Given the description of an element on the screen output the (x, y) to click on. 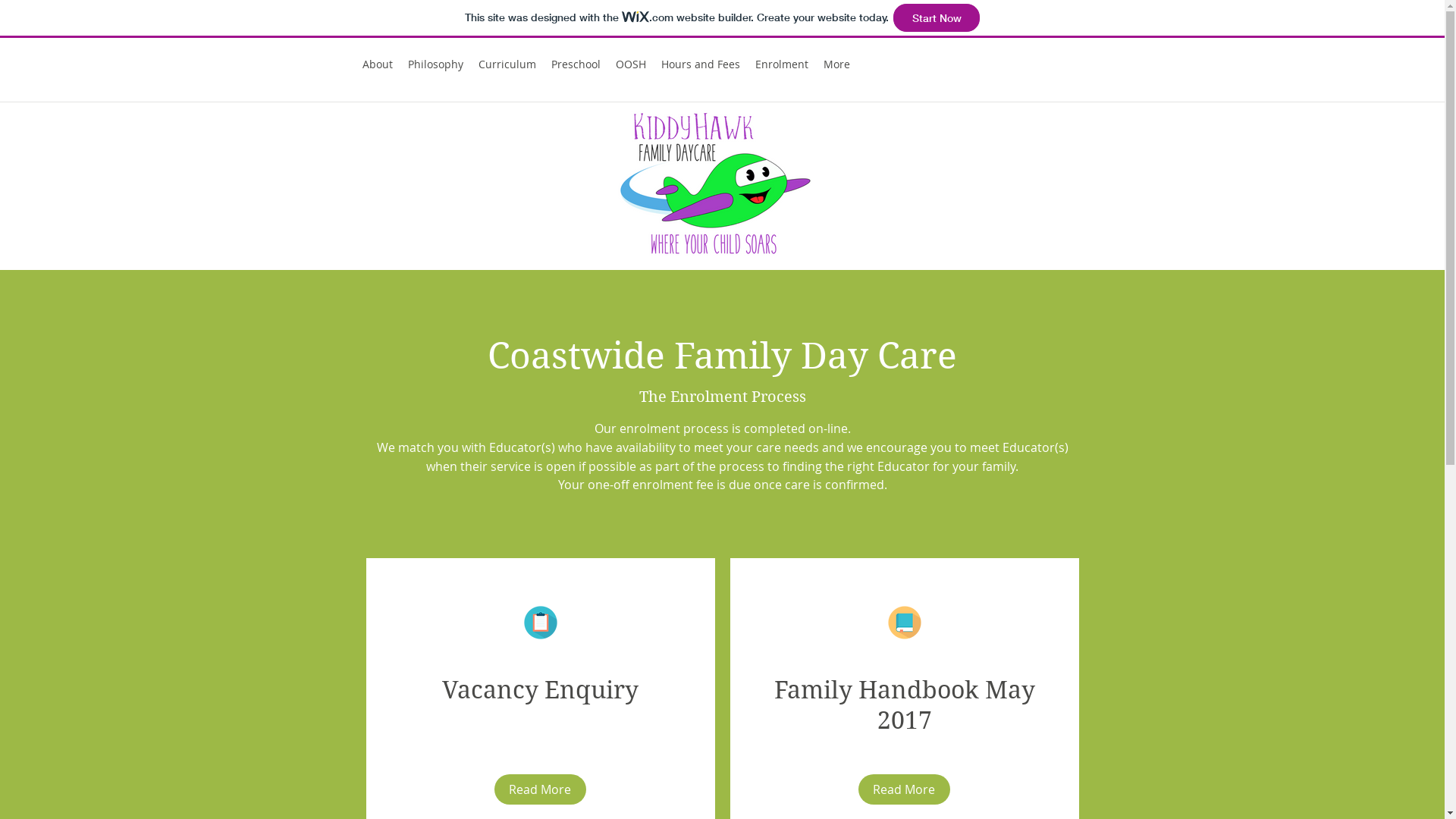
Preschool Element type: text (574, 64)
Hours and Fees Element type: text (700, 64)
About Element type: text (377, 64)
Curriculum Element type: text (506, 64)
Enrolment Element type: text (781, 64)
Read More Element type: text (904, 789)
Philosophy Element type: text (435, 64)
OOSH Element type: text (630, 64)
Read More Element type: text (540, 789)
